Given the description of an element on the screen output the (x, y) to click on. 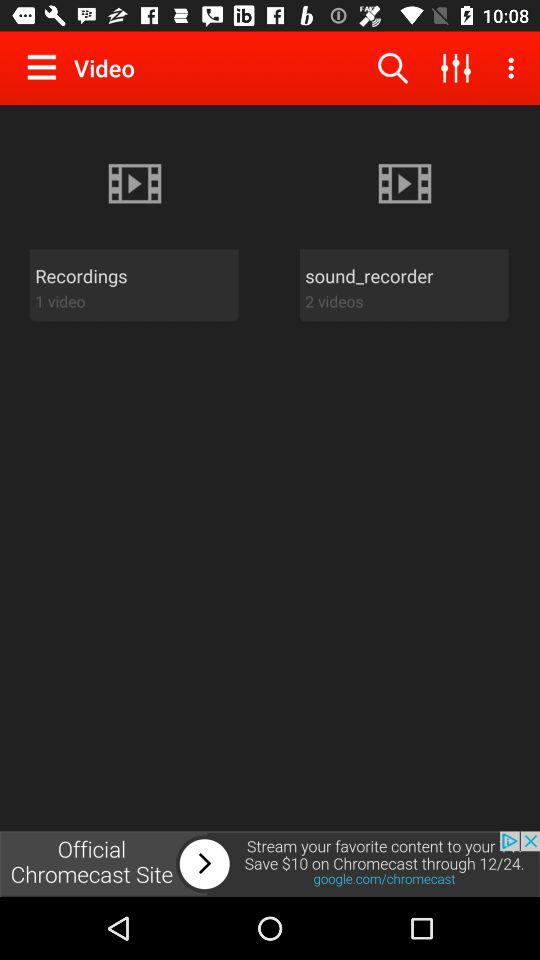
open advertisement (270, 864)
